Given the description of an element on the screen output the (x, y) to click on. 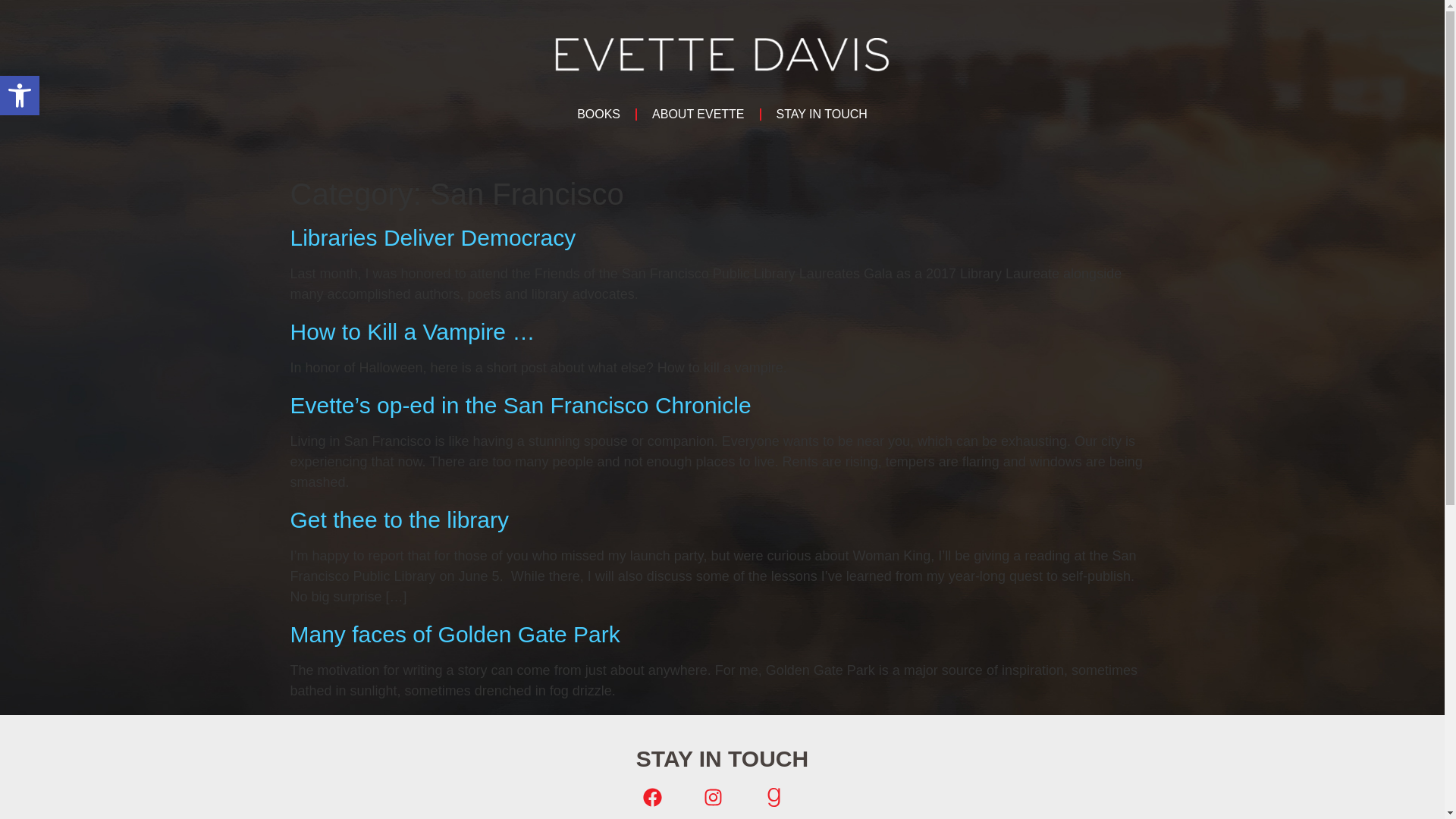
Accessibility Tools (19, 95)
STAY IN TOUCH (821, 114)
ABOUT EVETTE (698, 114)
Get thee to the library (19, 95)
BOOKS (398, 519)
Libraries Deliver Democracy (598, 114)
Many faces of Golden Gate Park (432, 237)
Accessibility Tools (454, 634)
